Given the description of an element on the screen output the (x, y) to click on. 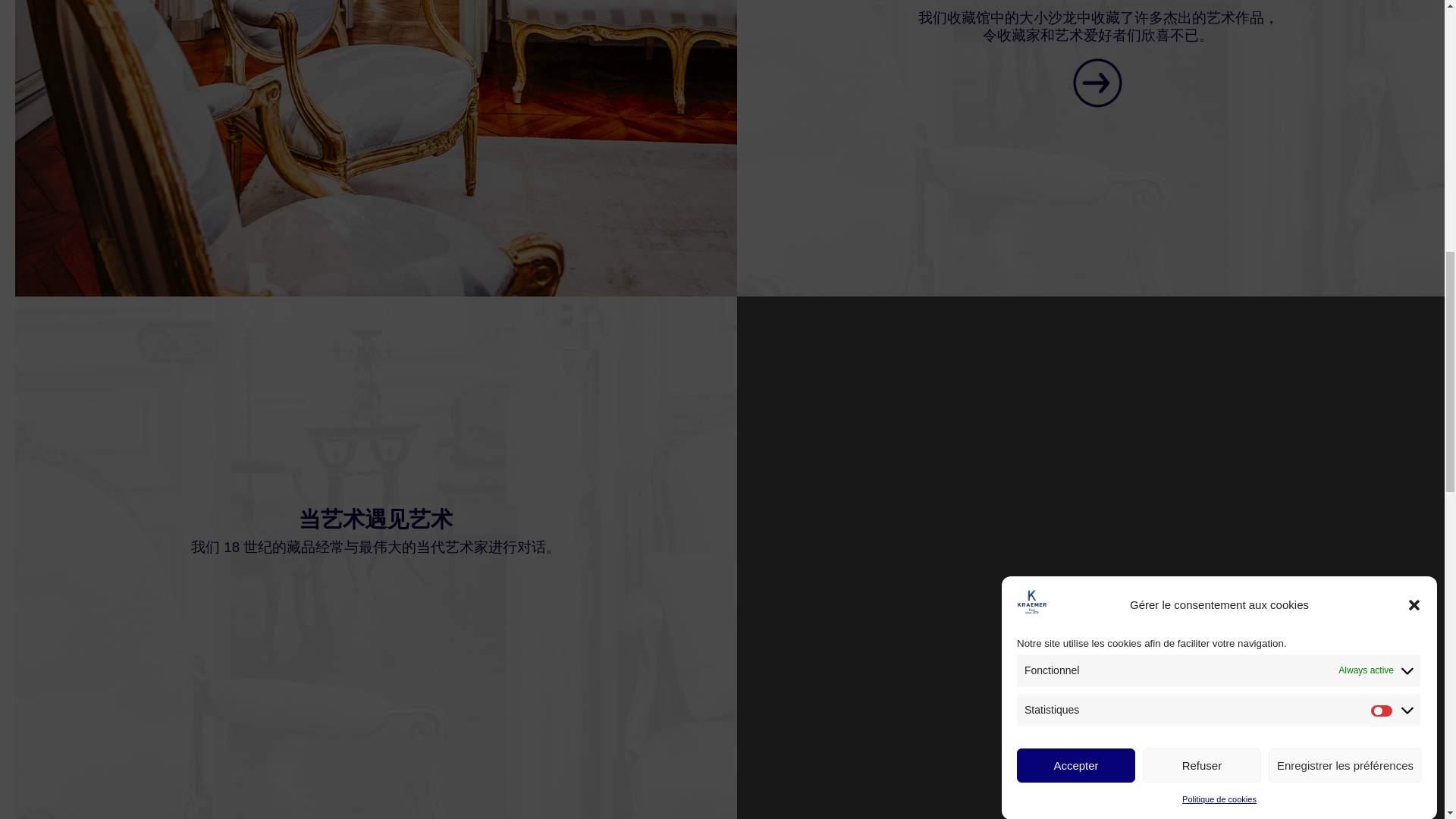
Politique de cookies (1219, 109)
Accepter (1075, 188)
Refuser (1201, 174)
